Given the description of an element on the screen output the (x, y) to click on. 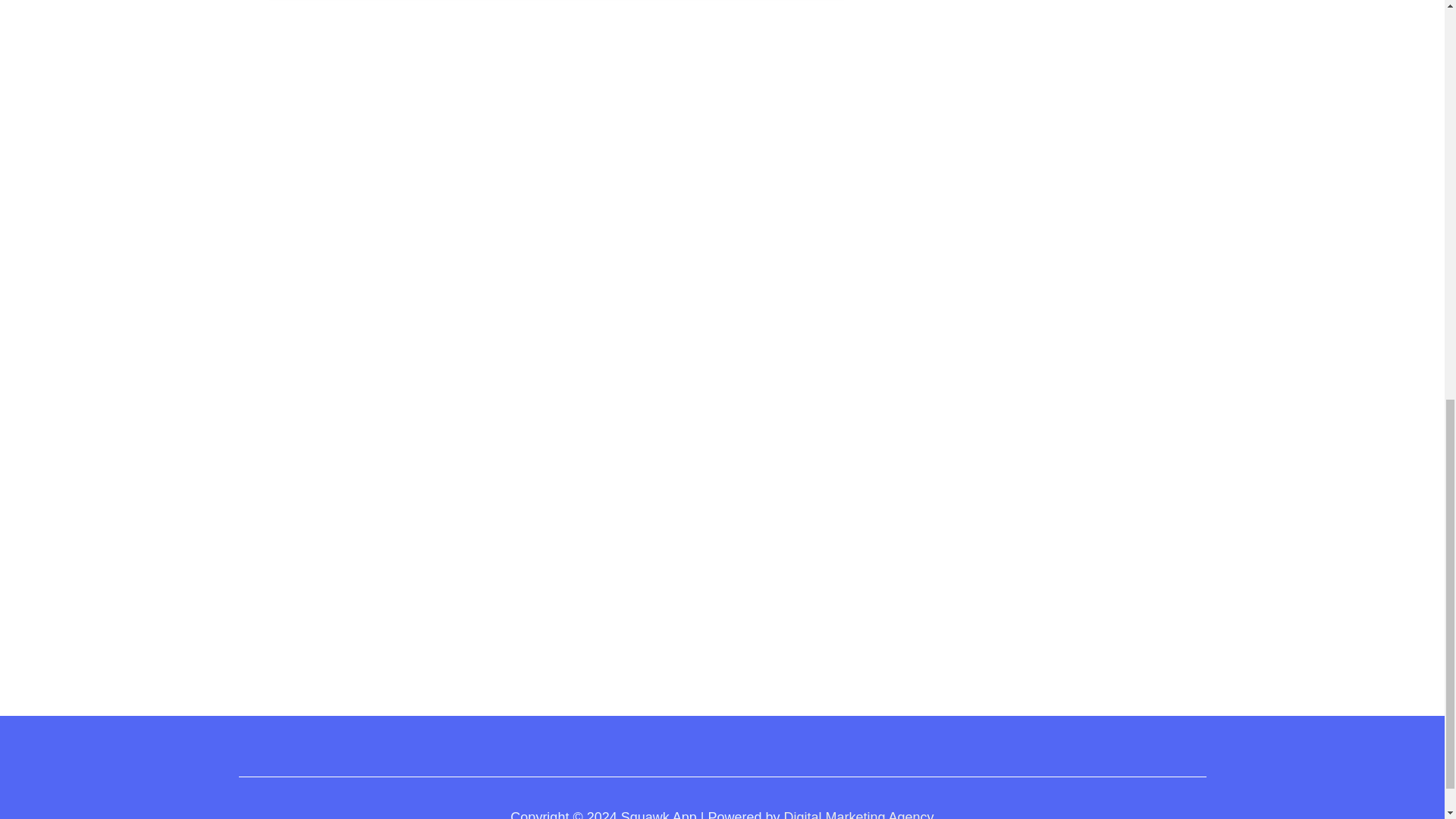
Post Comment (312, 575)
Digital Marketing Agency (859, 814)
